Given the description of an element on the screen output the (x, y) to click on. 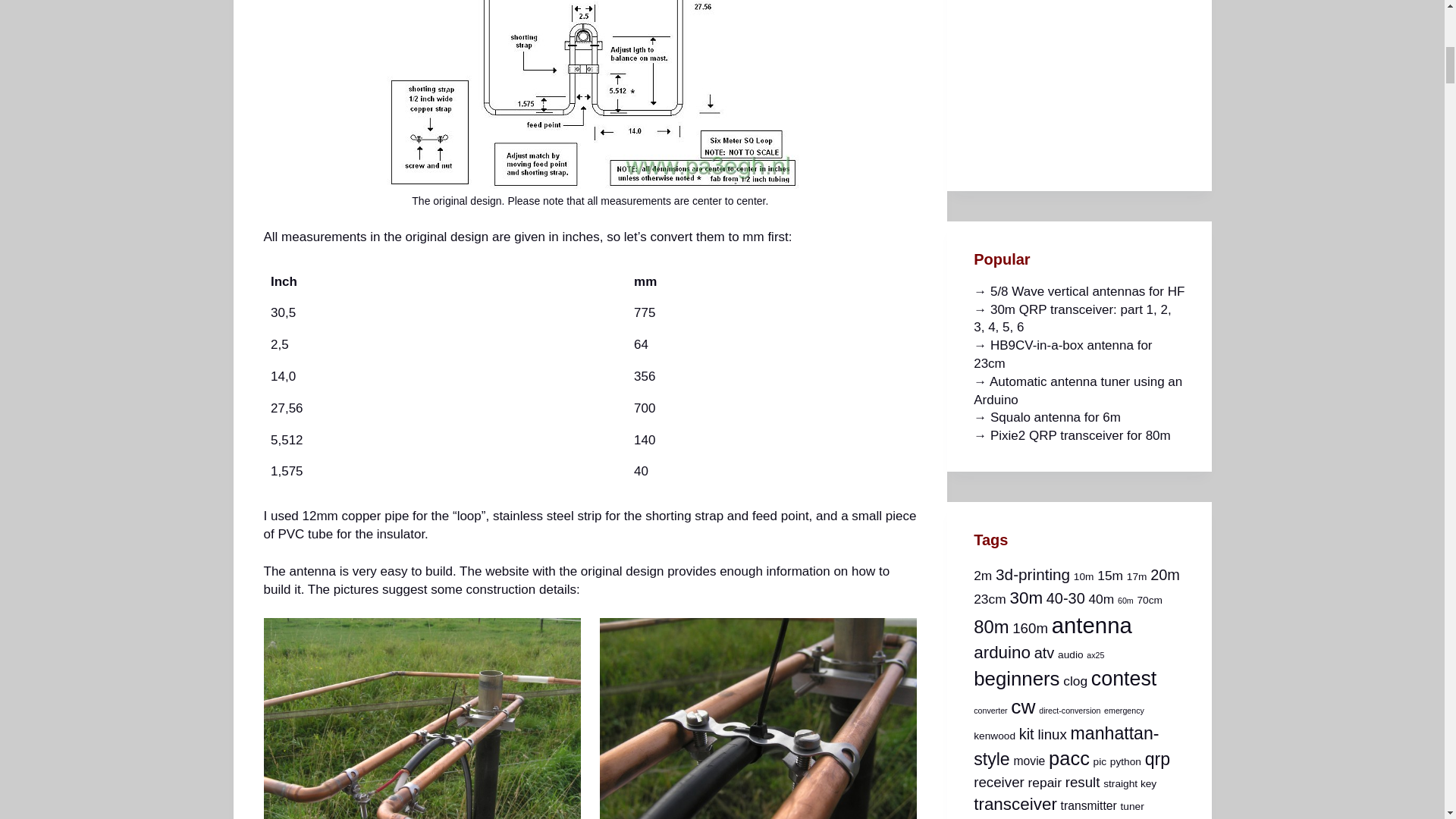
Advertisement (1087, 79)
